Given the description of an element on the screen output the (x, y) to click on. 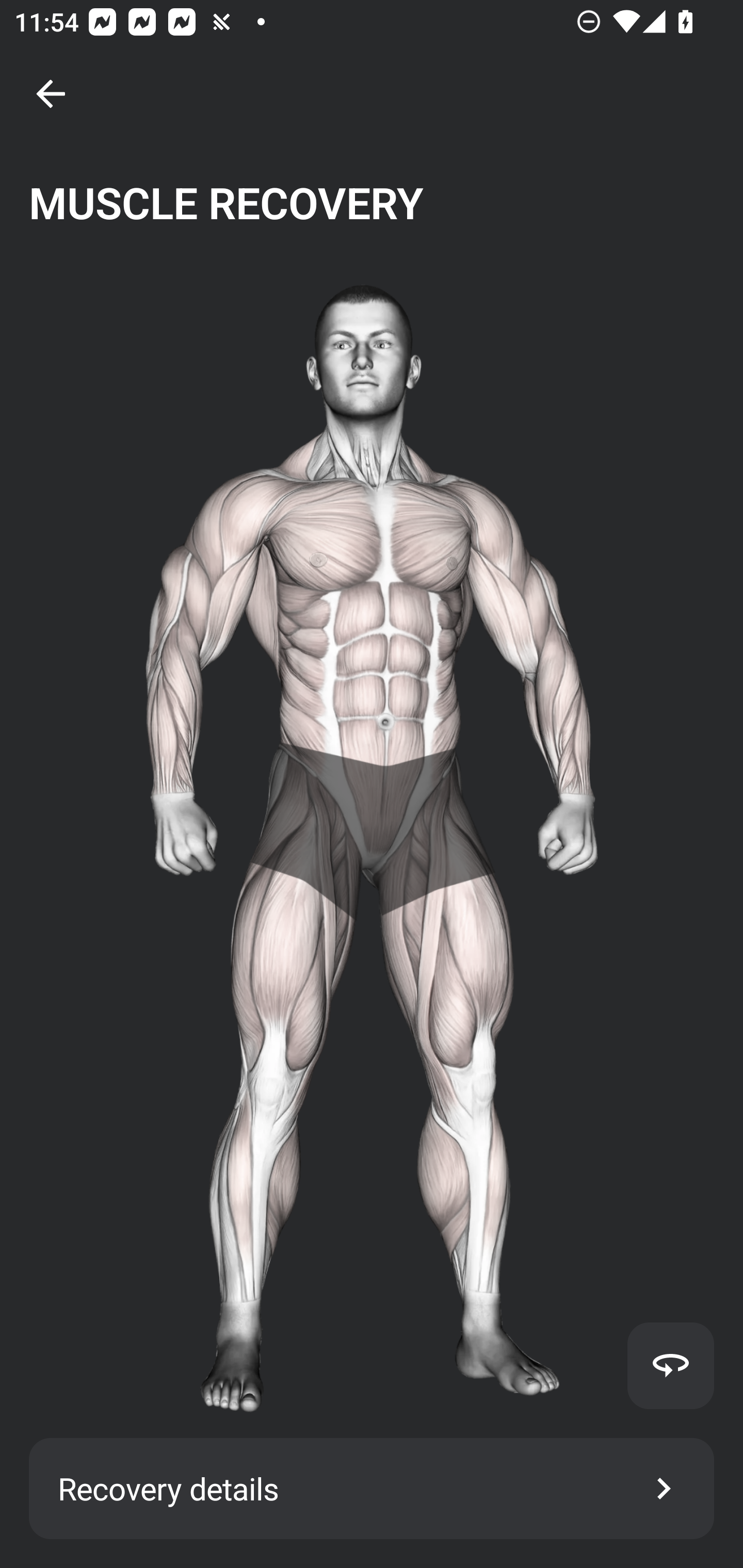
Back Icon (50, 93)
Turn icon (670, 1365)
Recovery details Next icon (371, 1488)
